Given the description of an element on the screen output the (x, y) to click on. 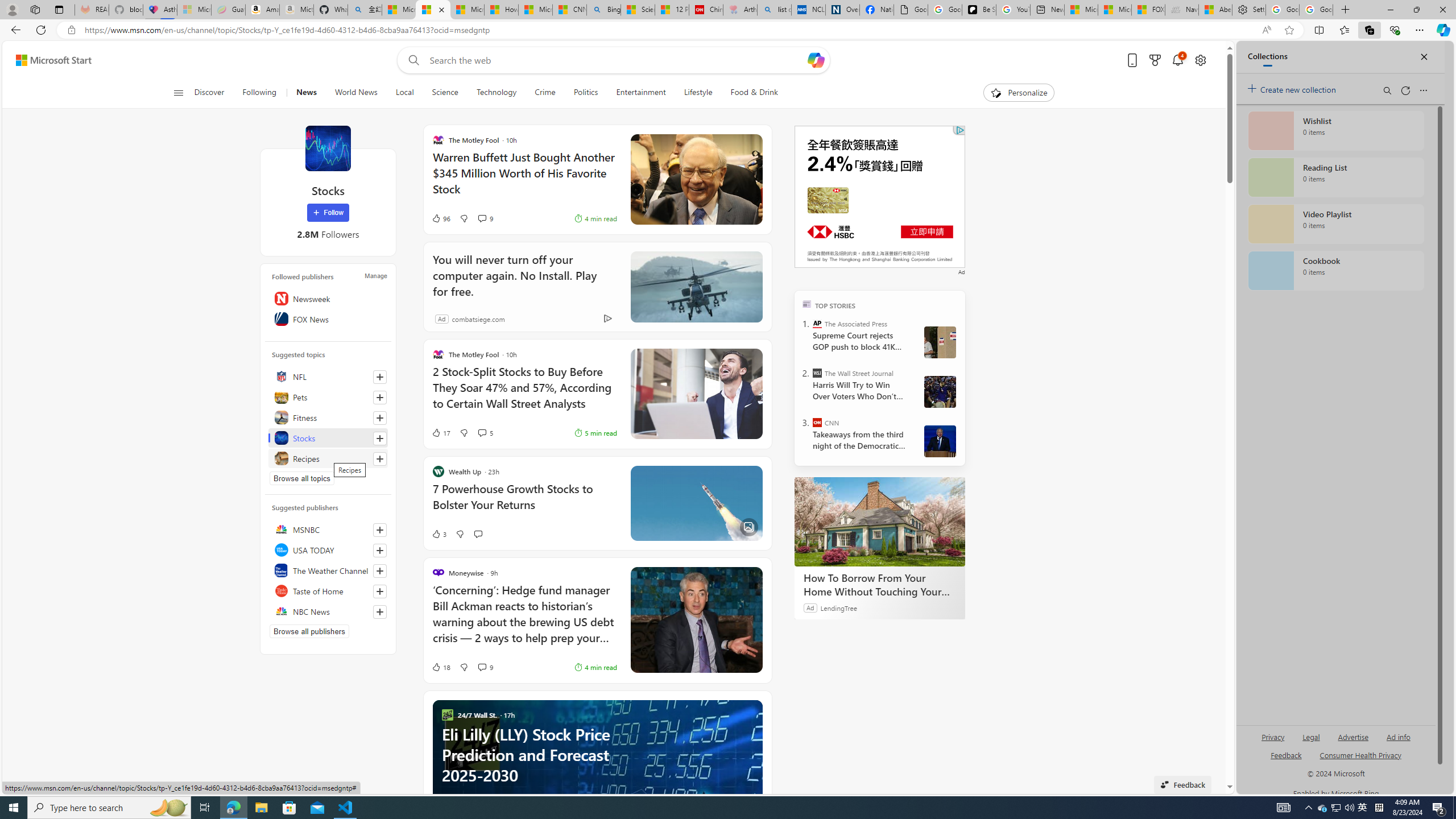
NFL (327, 376)
The Associated Press (816, 323)
NBC News (327, 610)
MSNBC (327, 529)
Recipes (327, 458)
17 Like (440, 432)
Stocks (327, 148)
